Given the description of an element on the screen output the (x, y) to click on. 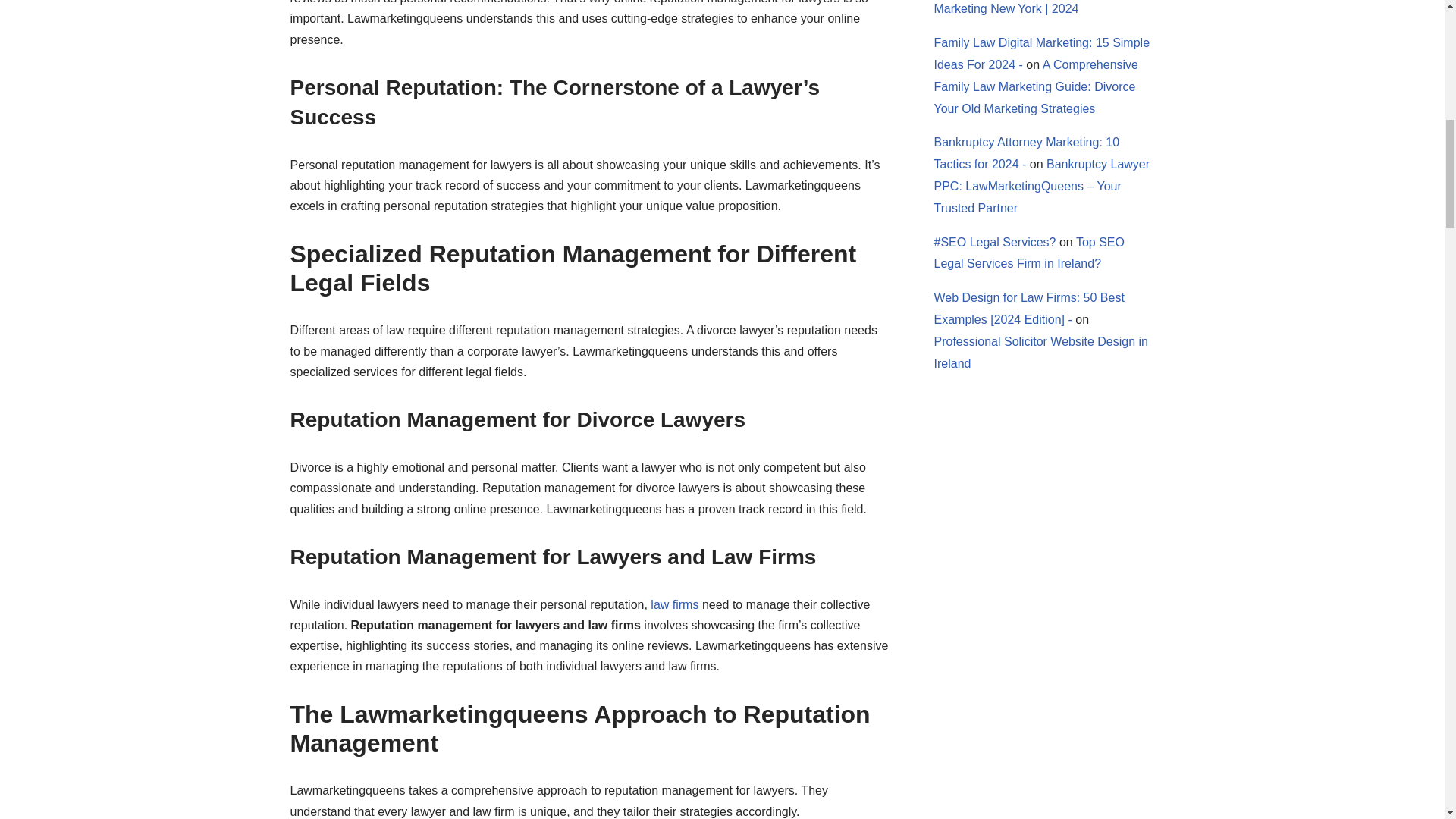
law firms (674, 604)
